Given the description of an element on the screen output the (x, y) to click on. 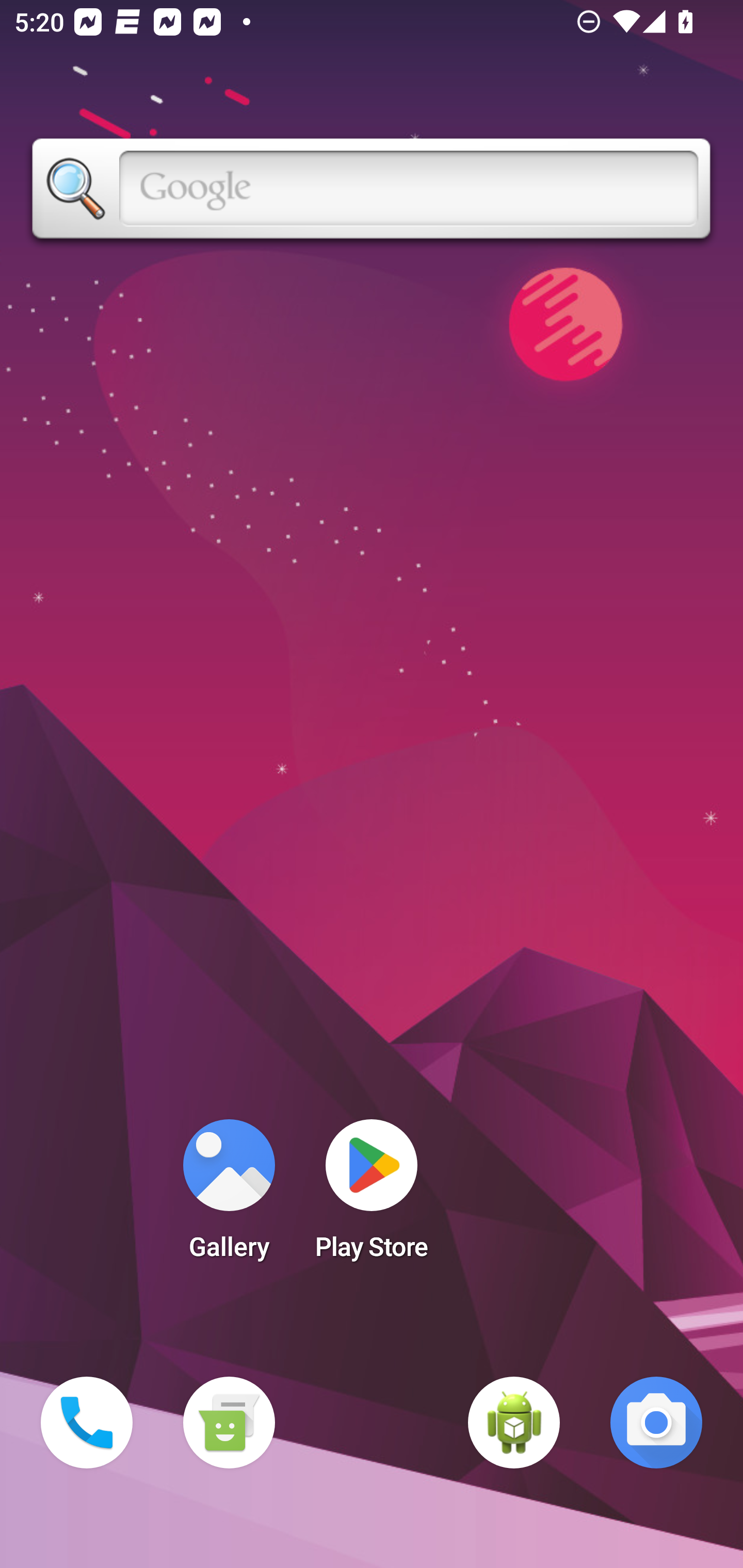
Gallery (228, 1195)
Play Store (371, 1195)
Phone (86, 1422)
Messaging (228, 1422)
WebView Browser Tester (513, 1422)
Camera (656, 1422)
